Given the description of an element on the screen output the (x, y) to click on. 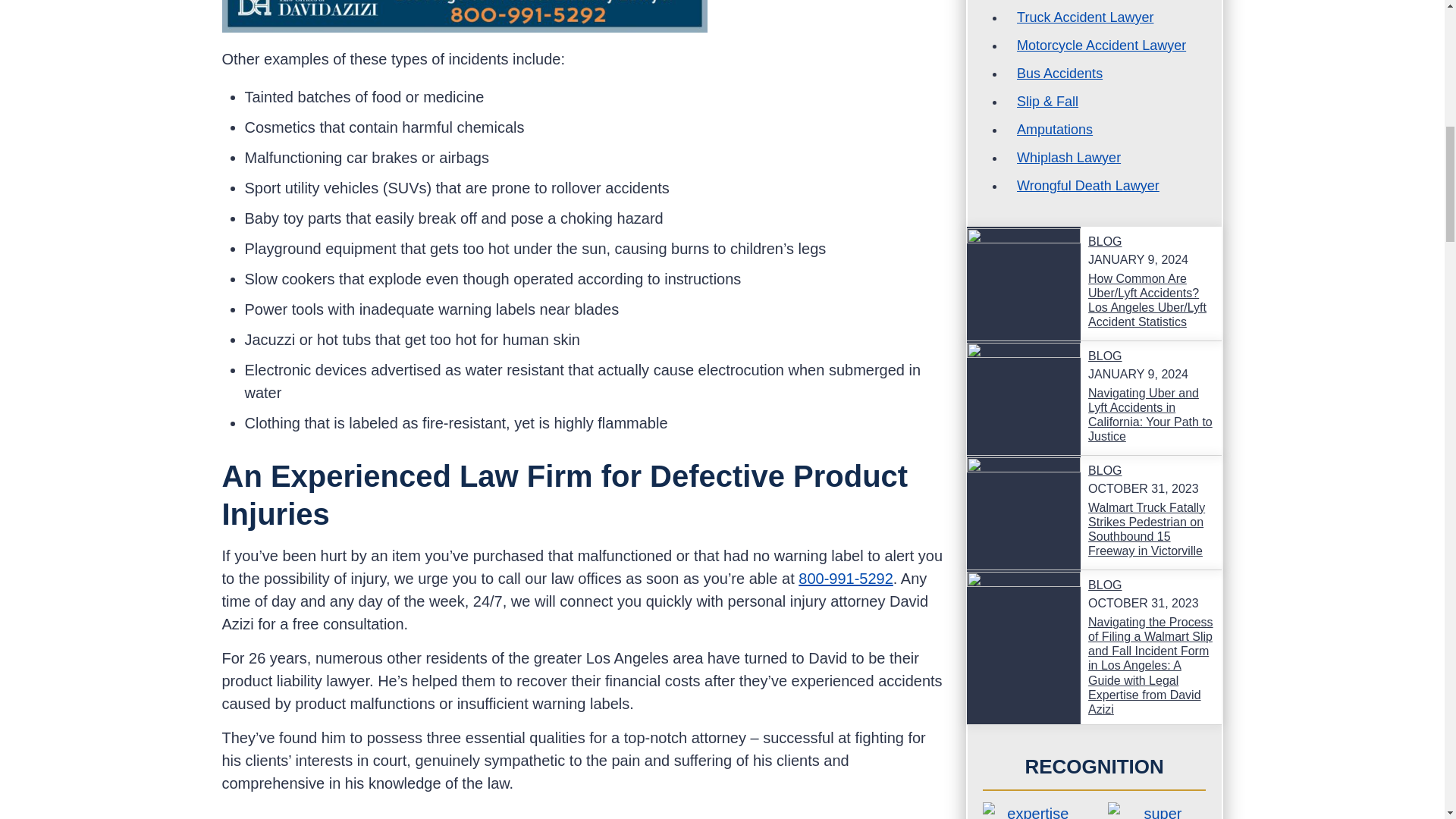
800-991-5292 (845, 578)
